Given the description of an element on the screen output the (x, y) to click on. 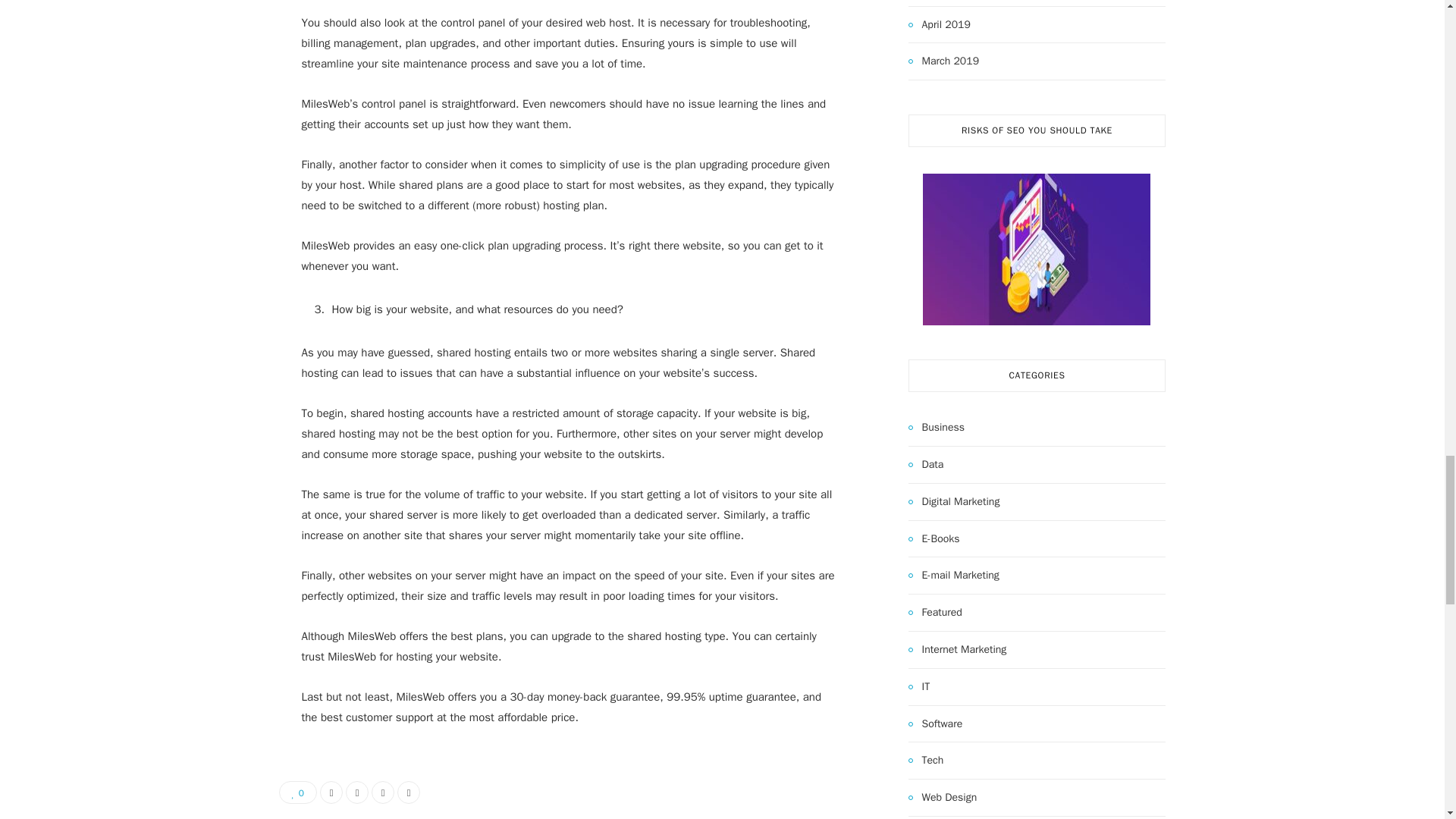
Share on Facebook (331, 792)
0 (298, 792)
Share on Twitter (357, 792)
Pinterest (382, 792)
Email (408, 792)
